Given the description of an element on the screen output the (x, y) to click on. 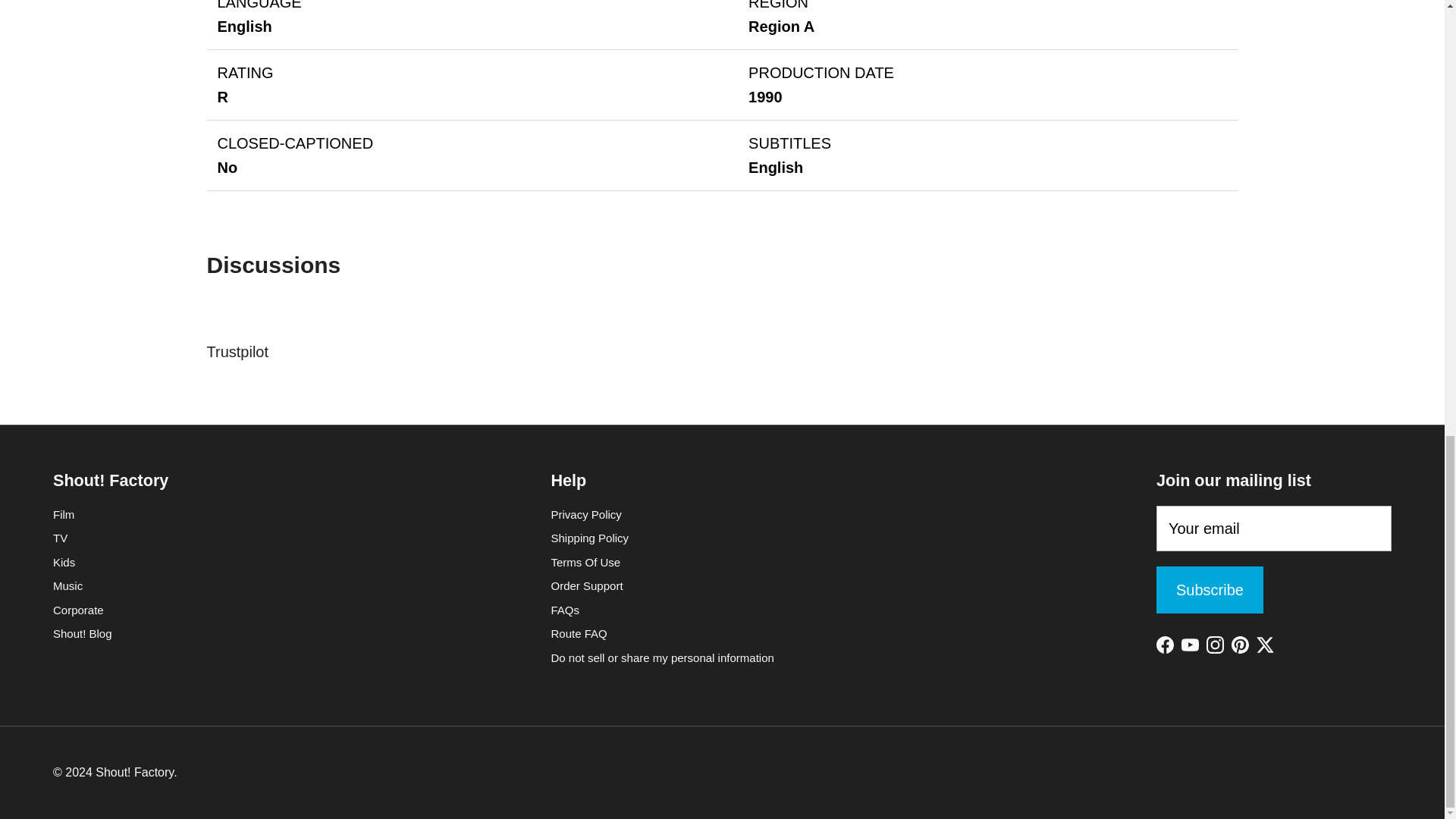
Shout! Factory on YouTube (1189, 644)
Shout! Factory on Twitter (1265, 644)
Shout! Factory on Pinterest (1240, 644)
Shout! Factory on Facebook (1164, 644)
Shout! Factory on Instagram (1215, 644)
